Given the description of an element on the screen output the (x, y) to click on. 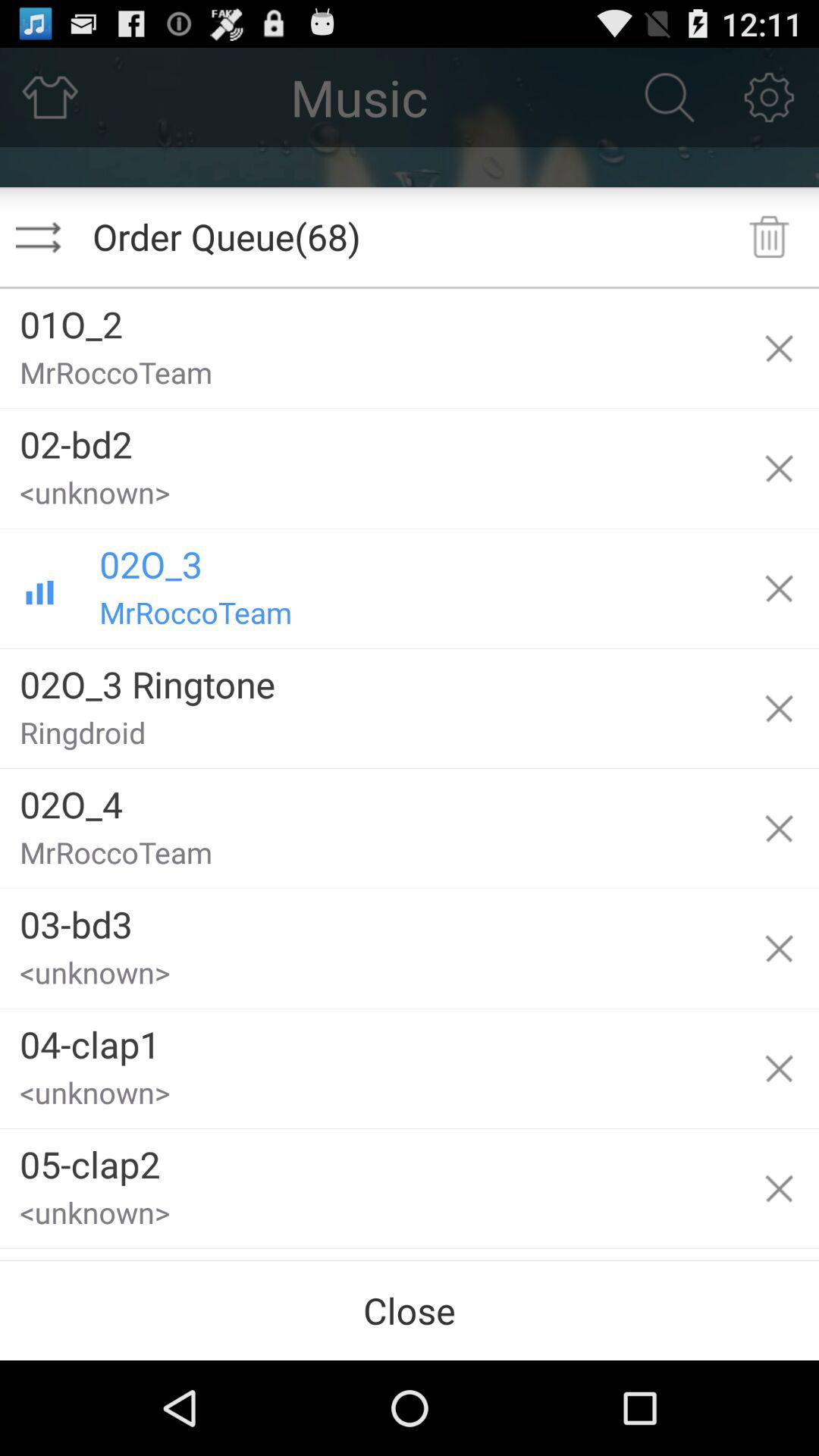
launch the item above <unknown> item (369, 1158)
